Given the description of an element on the screen output the (x, y) to click on. 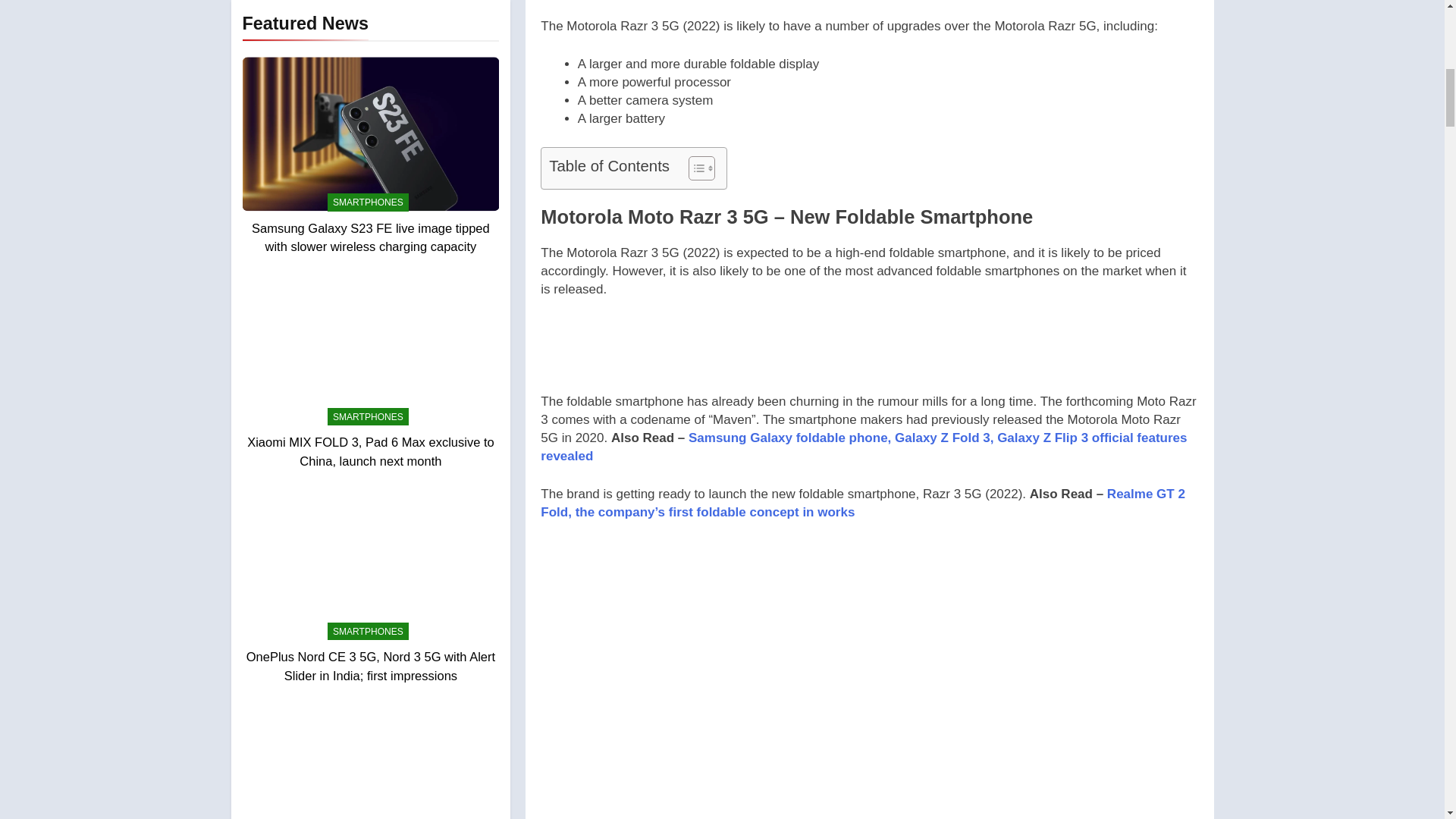
Fitness (271, 508)
Headphones (285, 603)
Camera (273, 383)
Gadgets (275, 540)
Laptops (273, 634)
Android (272, 288)
Audio (267, 320)
Events (270, 477)
